Given the description of an element on the screen output the (x, y) to click on. 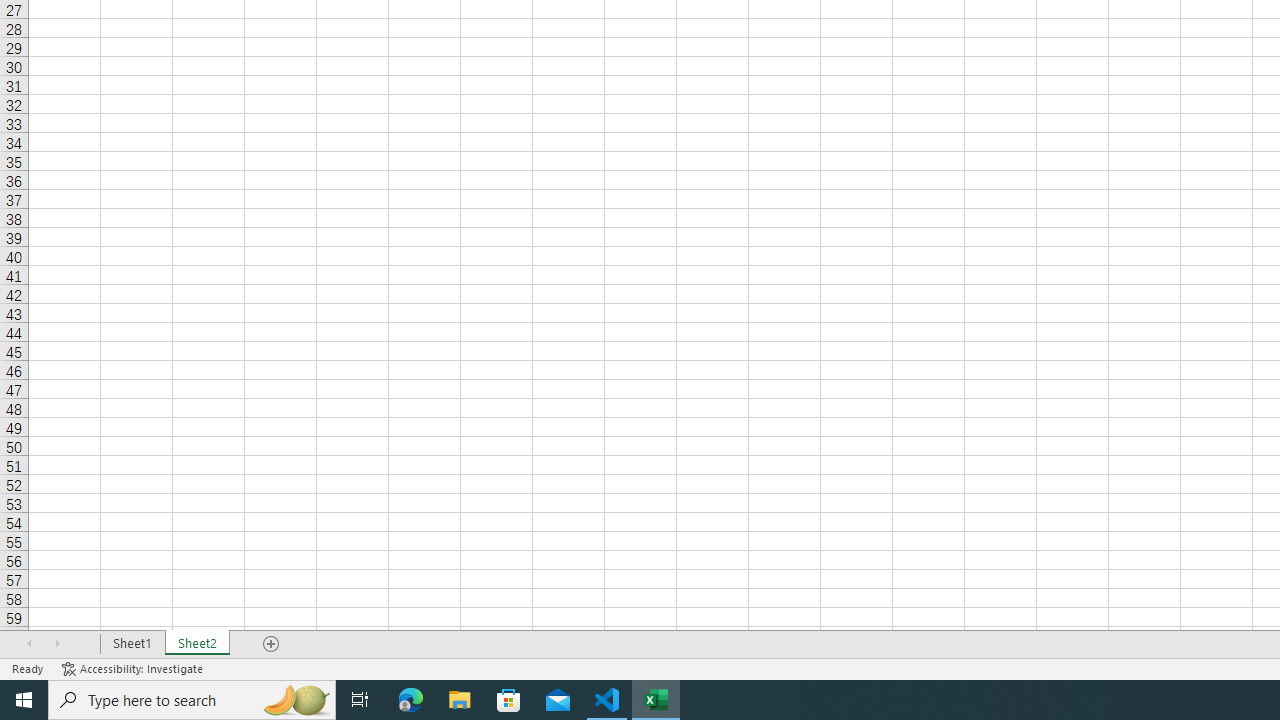
Sheet2 (197, 644)
Accessibility Checker Accessibility: Investigate (134, 668)
